Given the description of an element on the screen output the (x, y) to click on. 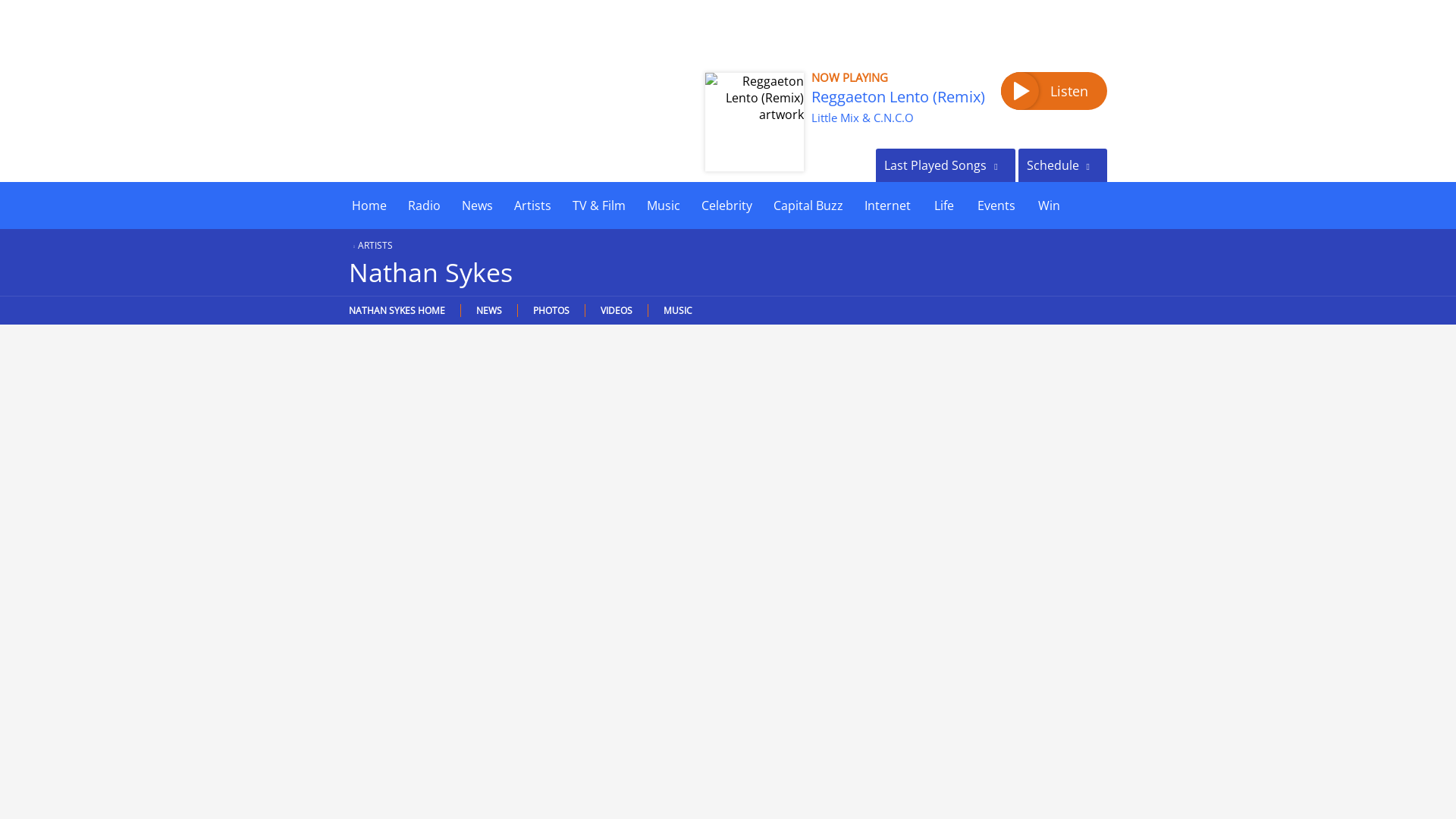
Schedule (1061, 164)
MUSIC (677, 309)
Celebrity (726, 205)
Artists (532, 205)
VIDEOS (616, 309)
PHOTOS (550, 309)
Life (943, 205)
Capital (438, 103)
News (477, 205)
ARTISTS (371, 245)
